Given the description of an element on the screen output the (x, y) to click on. 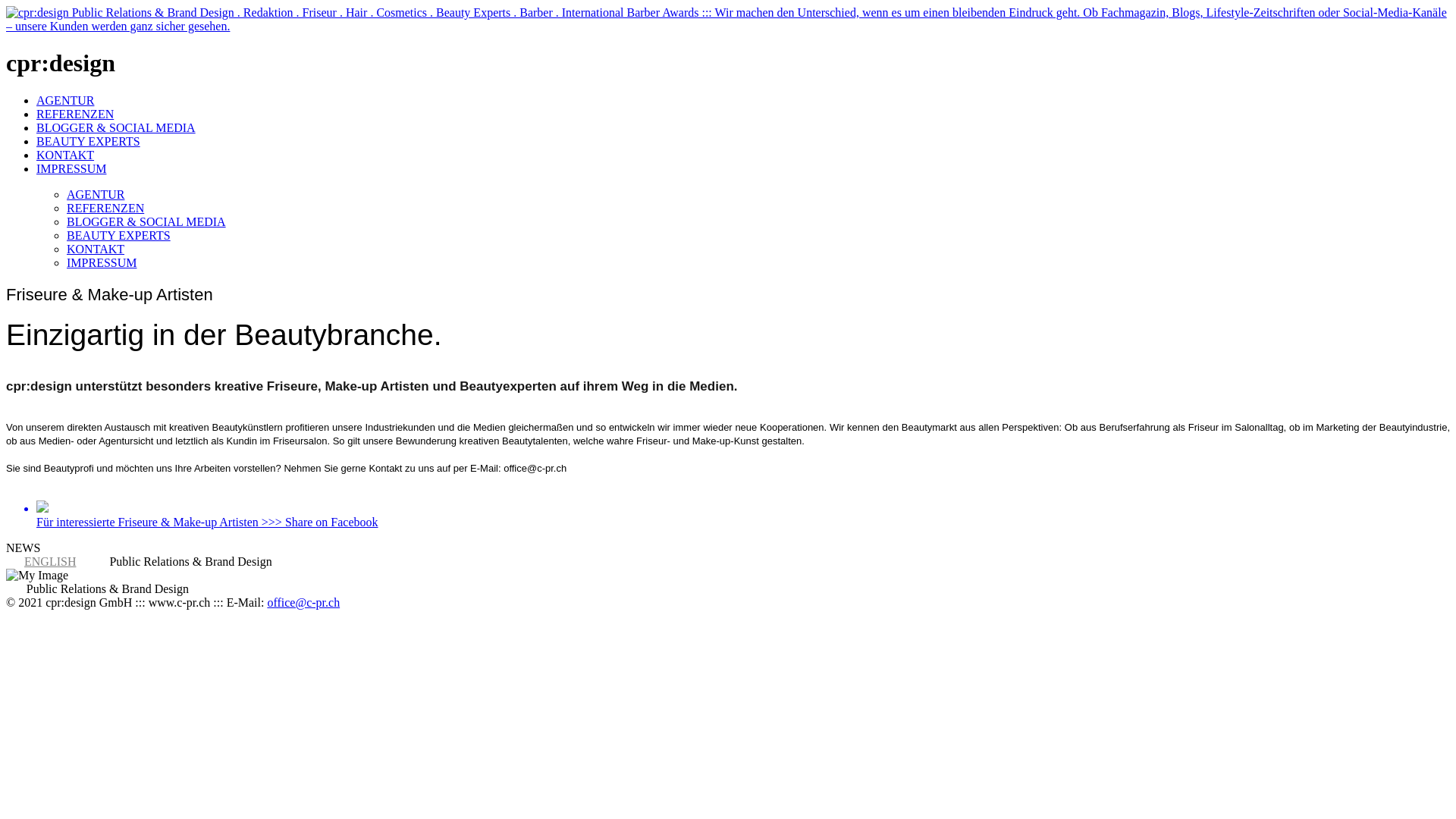
KONTAKT Element type: text (65, 154)
IMPRESSUM Element type: text (101, 262)
IMPRESSUM Element type: text (71, 168)
REFERENZEN Element type: text (105, 207)
BLOGGER & SOCIAL MEDIA Element type: text (145, 221)
KONTAKT Element type: text (95, 248)
Home Element type: hover (727, 25)
BEAUTY EXPERTS Element type: text (88, 140)
AGENTUR Element type: text (95, 194)
BEAUTY EXPERTS Element type: text (118, 235)
REFERENZEN Element type: text (74, 113)
ENGLISH Element type: text (49, 561)
BLOGGER & SOCIAL MEDIA Element type: text (115, 127)
office@c-pr.ch Element type: text (302, 602)
AGENTUR Element type: text (65, 100)
